Given the description of an element on the screen output the (x, y) to click on. 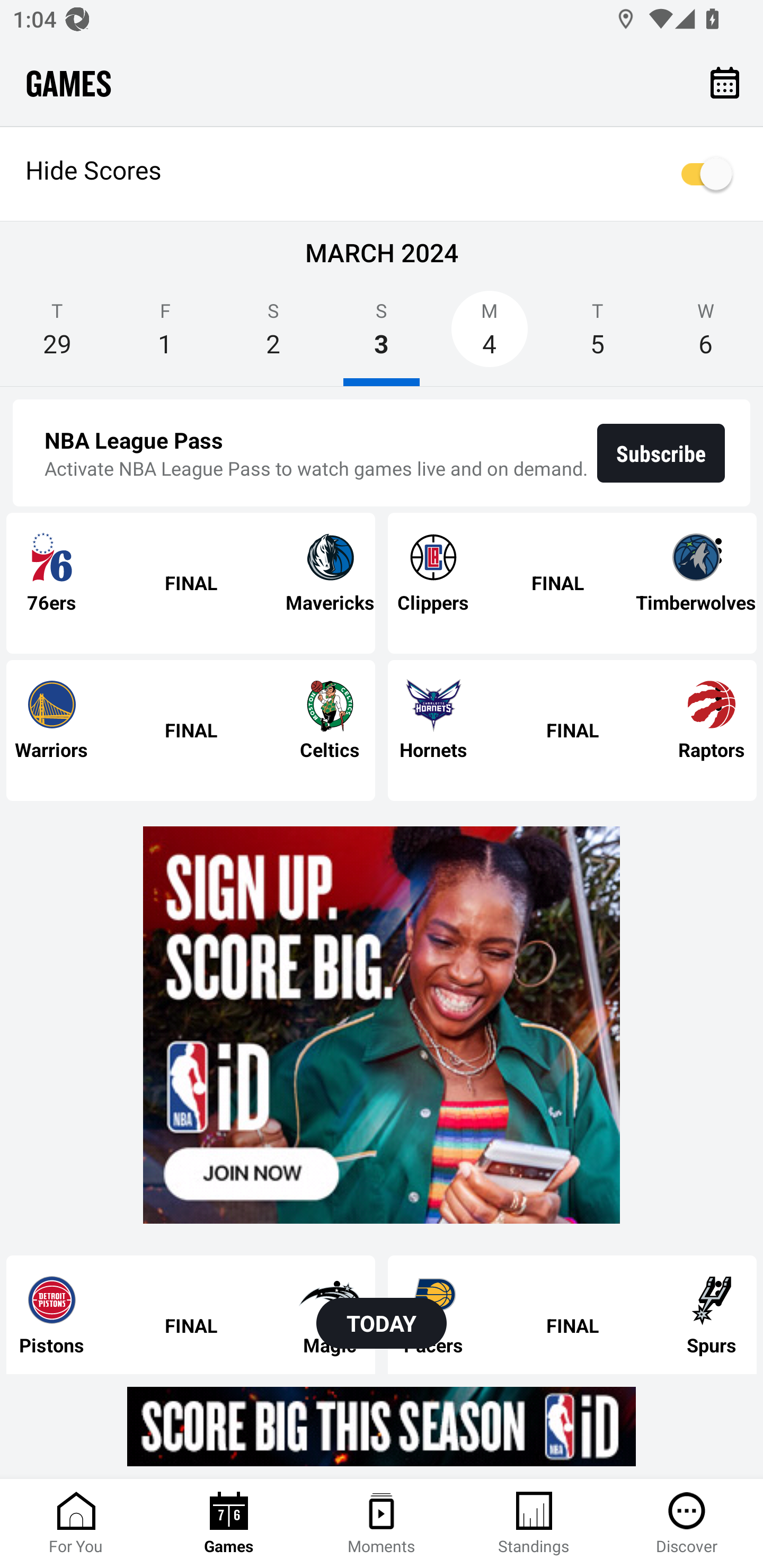
Calendar (724, 81)
Hide Scores (381, 174)
T 29 (57, 334)
F 1 (165, 334)
S 2 (273, 334)
S 3 (381, 334)
M 4 (489, 334)
T 5 (597, 334)
W 6 (705, 334)
Subscribe (660, 452)
Post Game - Pistons at Magic Pistons FINAL Magic (190, 1314)
Post Game - Pacers at Spurs Pacers FINAL Spurs (571, 1314)
TODAY (381, 1323)
For You (76, 1523)
Moments (381, 1523)
Standings (533, 1523)
Discover (686, 1523)
